Given the description of an element on the screen output the (x, y) to click on. 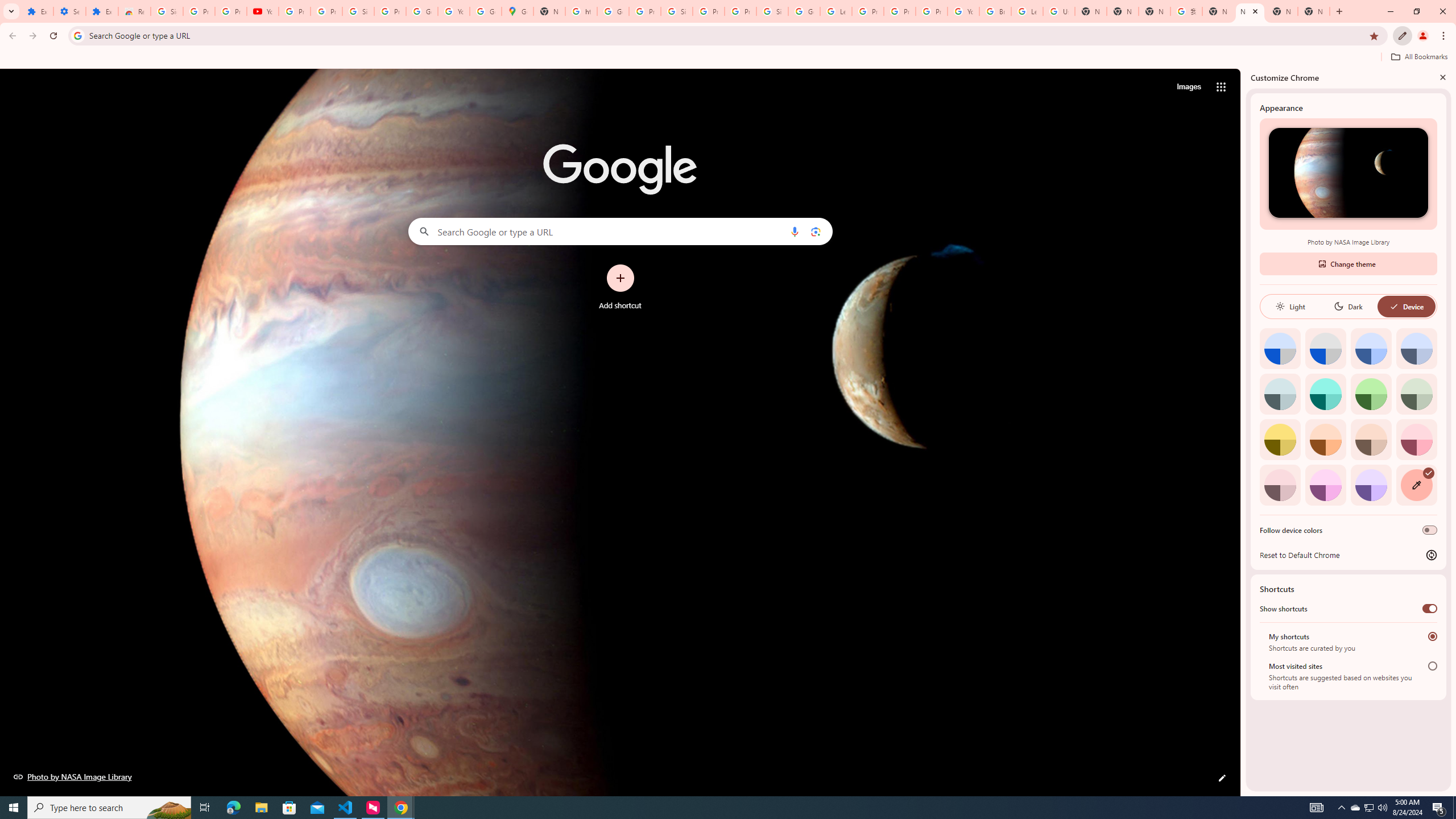
YouTube (963, 11)
Privacy Help Center - Policies Help (899, 11)
New Tab (1123, 11)
Green (1371, 393)
New Tab (1313, 11)
Custom color (1416, 484)
Search Google or type a URL (619, 230)
Fuchsia (1325, 484)
